Given the description of an element on the screen output the (x, y) to click on. 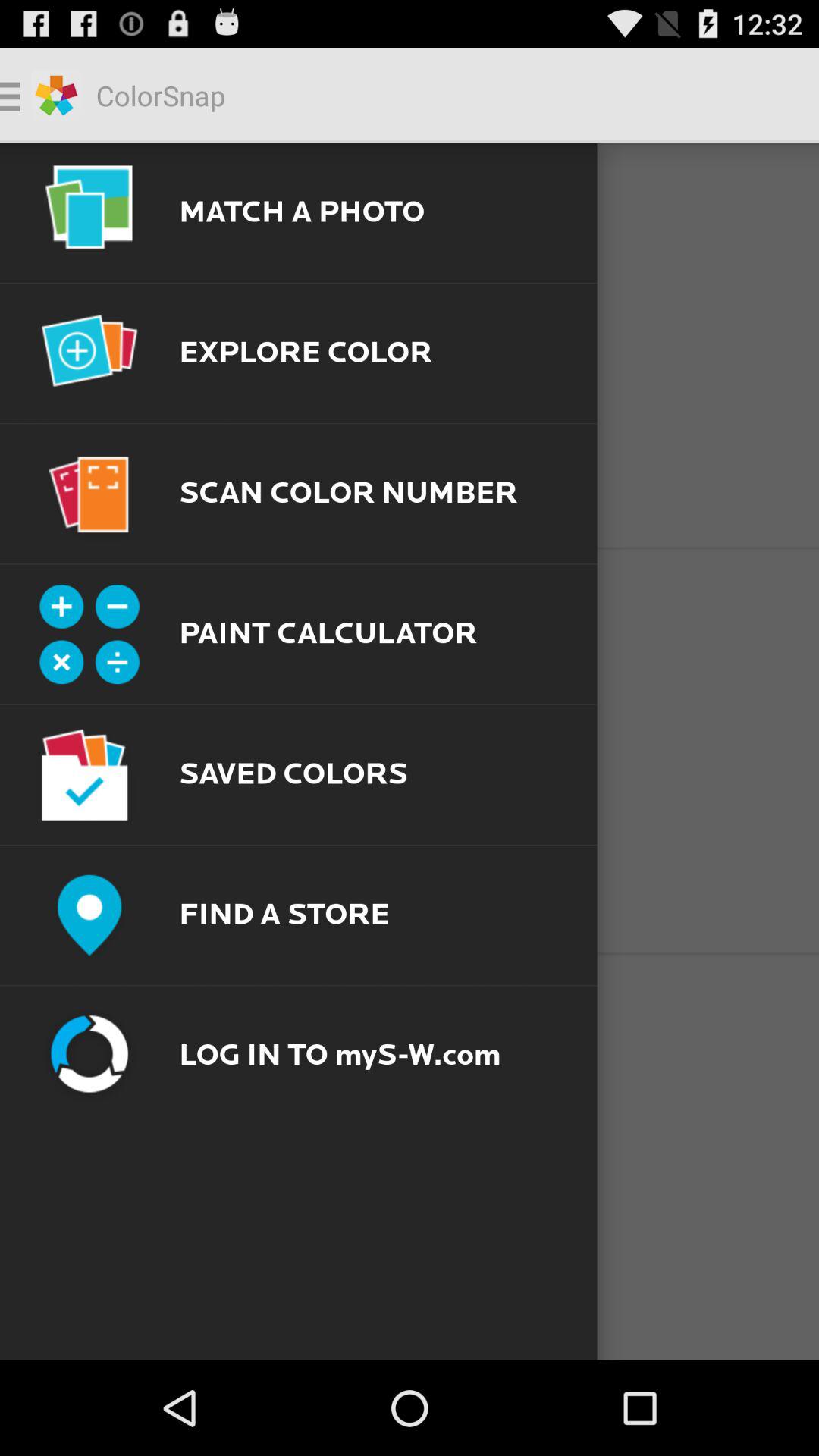
click on the icon which has the text explore color (89, 353)
